Given the description of an element on the screen output the (x, y) to click on. 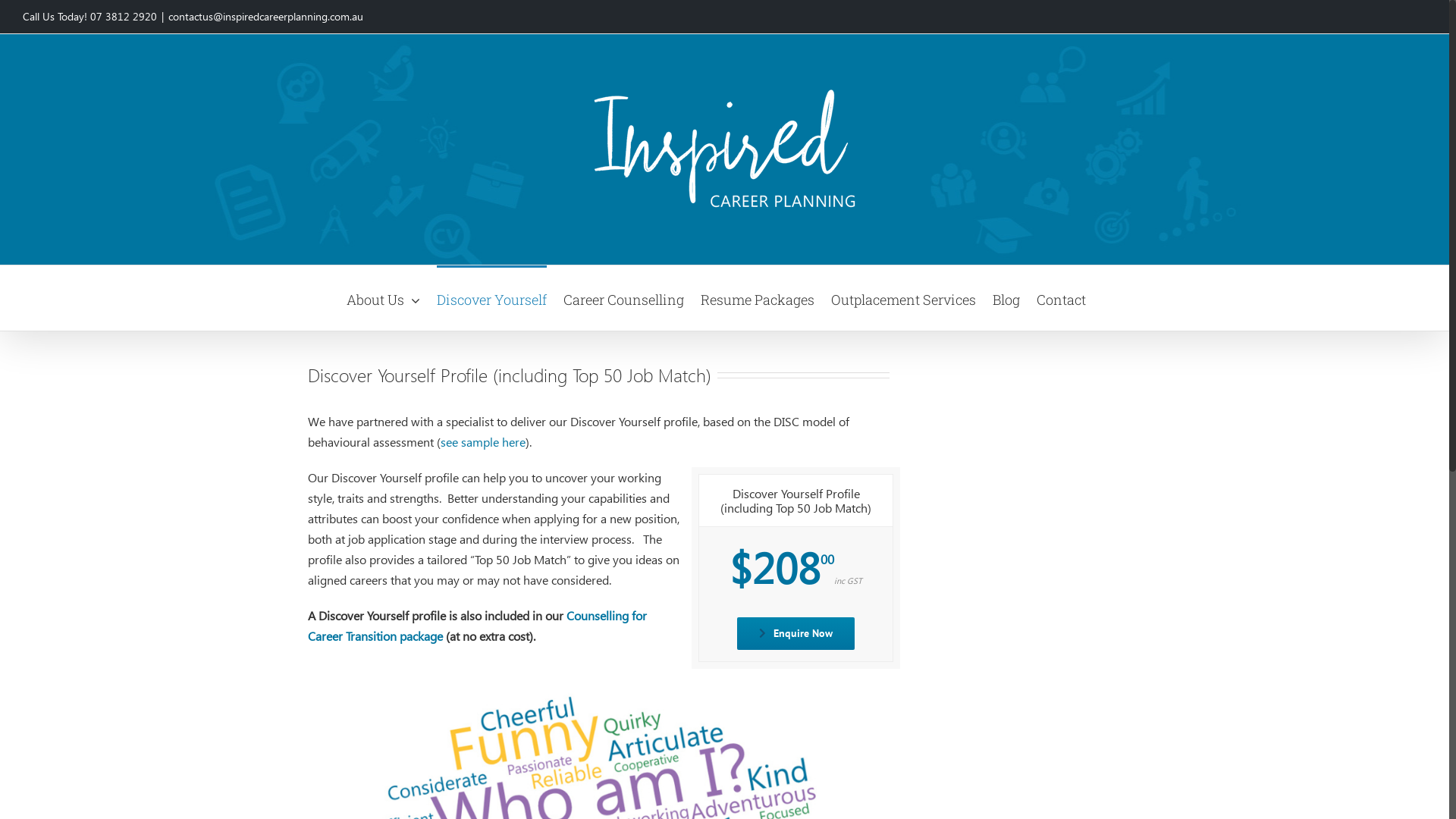
Career Counselling Element type: text (623, 297)
Discover Yourself Element type: text (491, 297)
Counselling for Career Transition package Element type: text (476, 625)
Blog Element type: text (1005, 297)
Resume Packages Element type: text (757, 297)
Contact Element type: text (1060, 297)
Enquire Now Element type: text (795, 633)
see sample here Element type: text (481, 441)
About Us Element type: text (383, 297)
contactus@inspiredcareerplanning.com.au Element type: text (265, 16)
Outplacement Services Element type: text (903, 297)
